Given the description of an element on the screen output the (x, y) to click on. 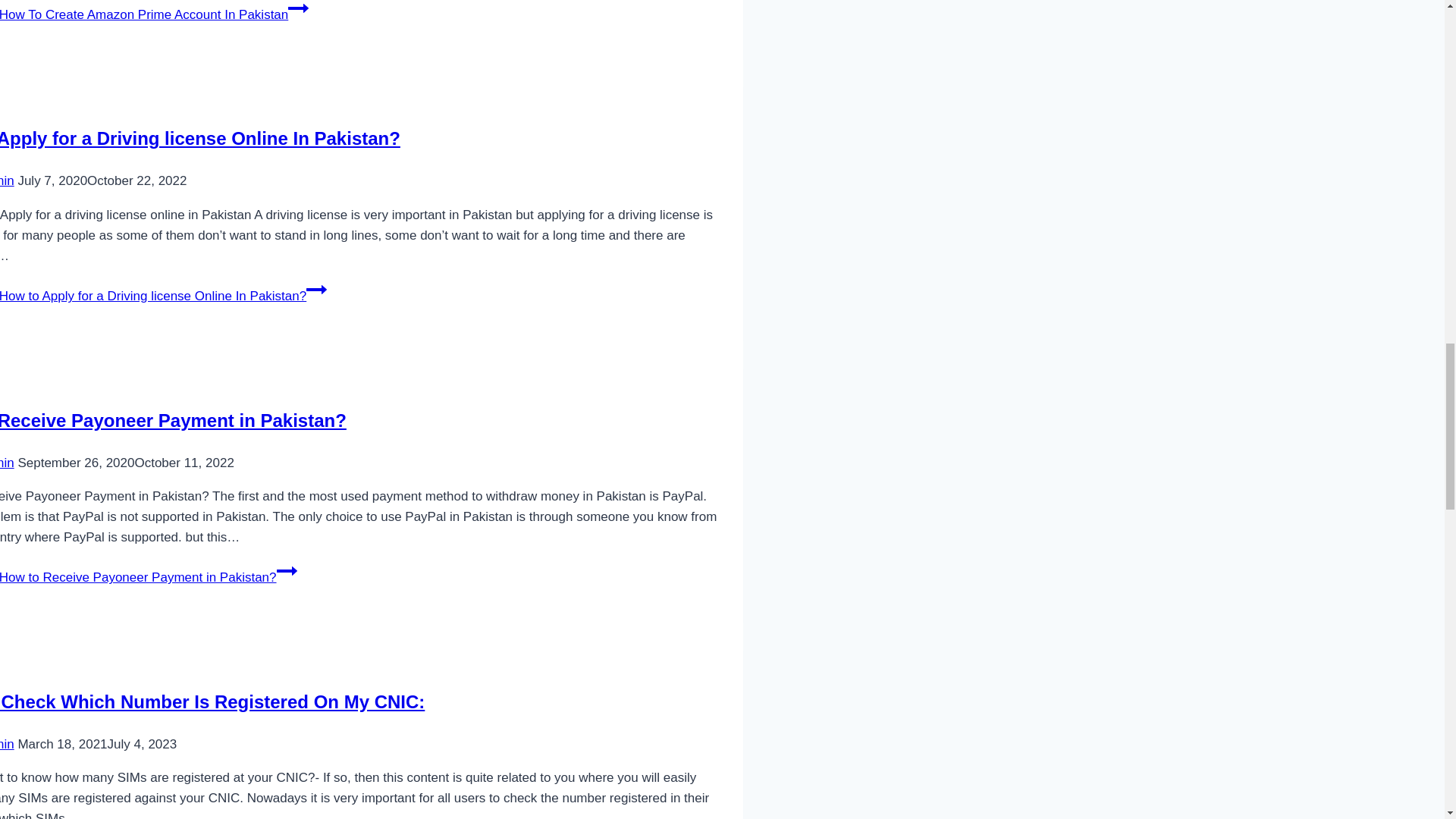
How To Check Which Number Is Registered On My CNIC: (212, 701)
Continue (298, 9)
superadmin (7, 180)
Continue (286, 570)
How to Receive Payoneer Payment in Pakistan? (173, 420)
Continue (315, 289)
superadmin (7, 744)
